Given the description of an element on the screen output the (x, y) to click on. 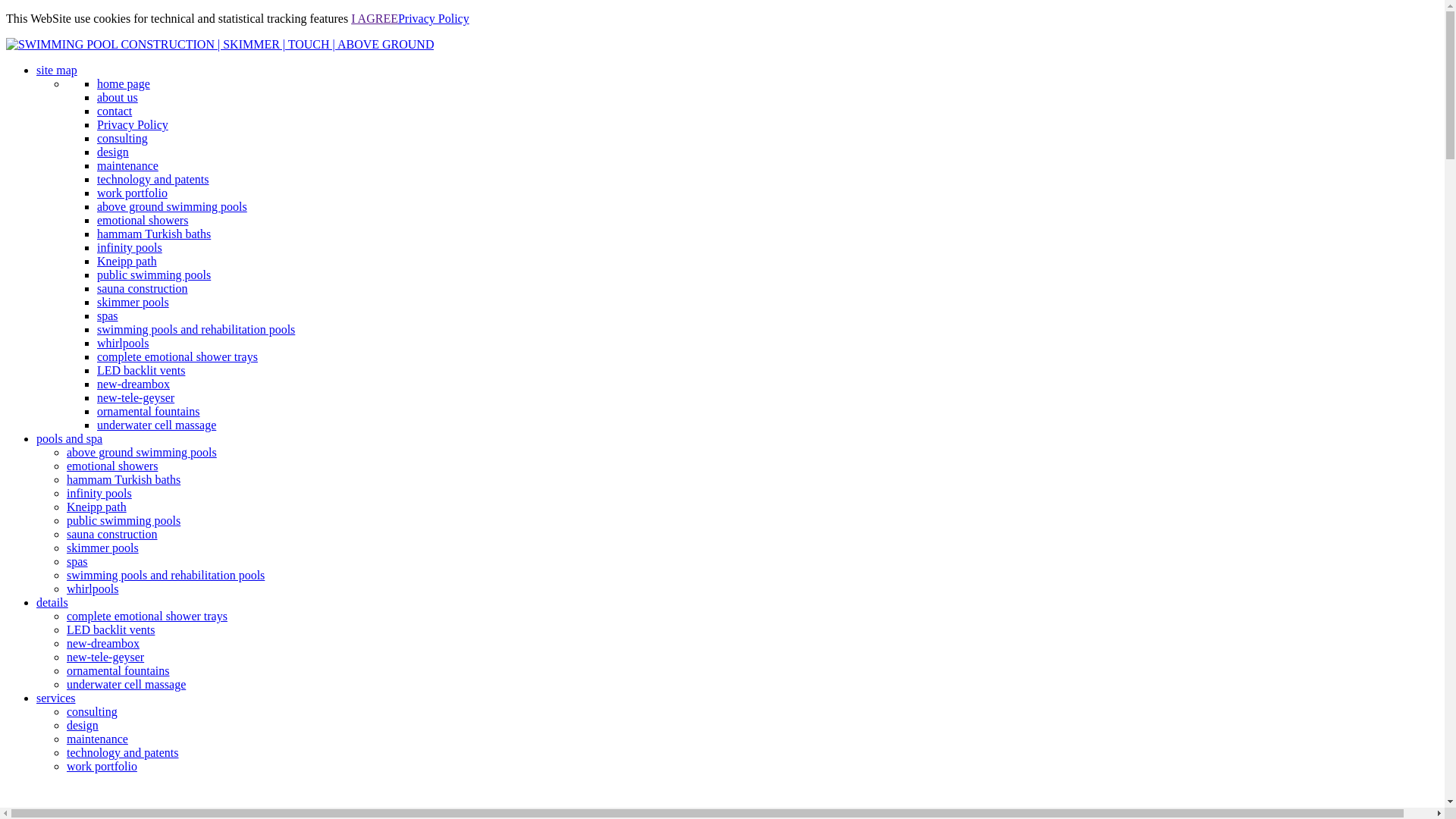
work portfolio Element type: text (101, 765)
sauna construction Element type: text (111, 533)
home page Element type: text (123, 83)
underwater cell massage Element type: text (156, 424)
complete emotional shower trays Element type: text (177, 356)
emotional showers Element type: text (142, 219)
sauna construction Element type: text (142, 288)
pools and spa Element type: text (69, 438)
Kneipp path Element type: text (96, 506)
whirlpools Element type: text (122, 342)
technology and patents Element type: text (153, 178)
maintenance Element type: text (127, 165)
emotional showers Element type: text (111, 465)
above ground swimming pools Element type: text (141, 451)
whirlpools Element type: text (92, 588)
I AGREE Element type: text (374, 18)
new-tele-geyser Element type: text (135, 397)
about us Element type: text (117, 97)
complete emotional shower trays Element type: text (146, 615)
infinity pools Element type: text (129, 247)
contact Element type: text (114, 110)
new-tele-geyser Element type: text (105, 656)
technology and patents Element type: text (122, 752)
consulting Element type: text (91, 711)
details Element type: text (52, 602)
ornamental fountains Element type: text (148, 410)
above ground swimming pools Element type: text (172, 206)
swimming pools and rehabilitation pools Element type: text (195, 329)
LED backlit vents Element type: text (110, 629)
hammam Turkish baths Element type: text (123, 479)
public swimming pools Element type: text (123, 520)
Privacy Policy Element type: text (132, 124)
site map Element type: text (56, 69)
maintenance Element type: text (97, 738)
services Element type: text (55, 697)
Privacy Policy Element type: text (433, 18)
Kneipp path Element type: text (126, 260)
work portfolio Element type: text (132, 192)
swimming pools and rehabilitation pools Element type: text (165, 574)
skimmer pools Element type: text (102, 547)
LED backlit vents Element type: text (141, 370)
design Element type: text (82, 724)
underwater cell massage Element type: text (125, 683)
hammam Turkish baths Element type: text (153, 233)
new-dreambox Element type: text (102, 643)
design Element type: text (112, 151)
ornamental fountains Element type: text (117, 670)
spas Element type: text (107, 315)
public swimming pools Element type: text (153, 274)
new-dreambox Element type: text (133, 383)
spas Element type: text (76, 561)
skimmer pools Element type: text (133, 301)
infinity pools Element type: text (98, 492)
consulting Element type: text (122, 137)
